Given the description of an element on the screen output the (x, y) to click on. 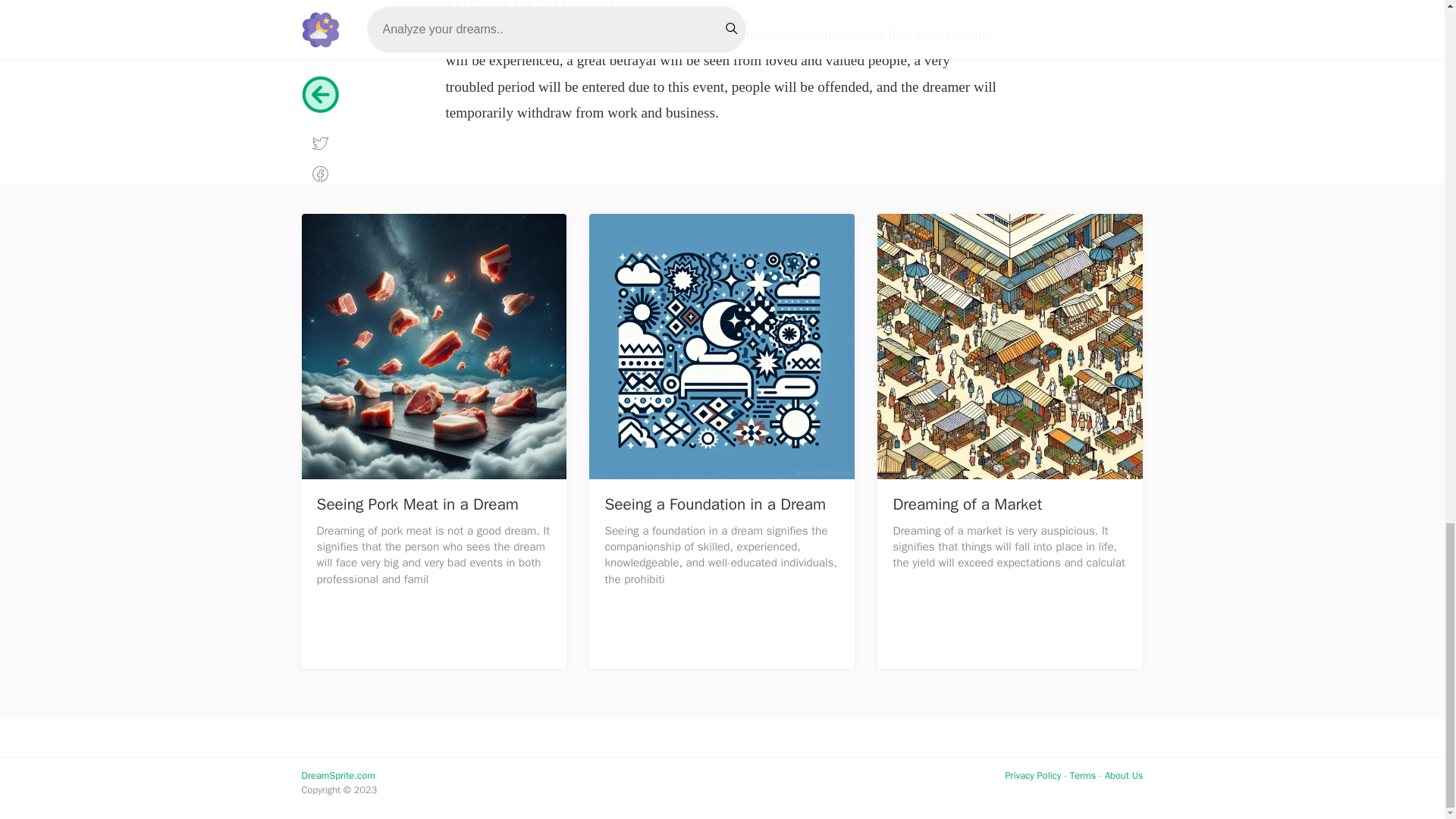
DreamSprite.com (338, 775)
Dream Interpretations (338, 775)
Seeing Pork Meat in a Dream (434, 346)
Dreaming of a Market (1009, 346)
Seeing Pork Meat in a Dream (417, 504)
Hiding in a Dream (529, 7)
About Us (1123, 775)
Seeing a Foundation in a Dream (714, 504)
Dreaming of a Market (967, 504)
Privacy Policy (1032, 775)
